Given the description of an element on the screen output the (x, y) to click on. 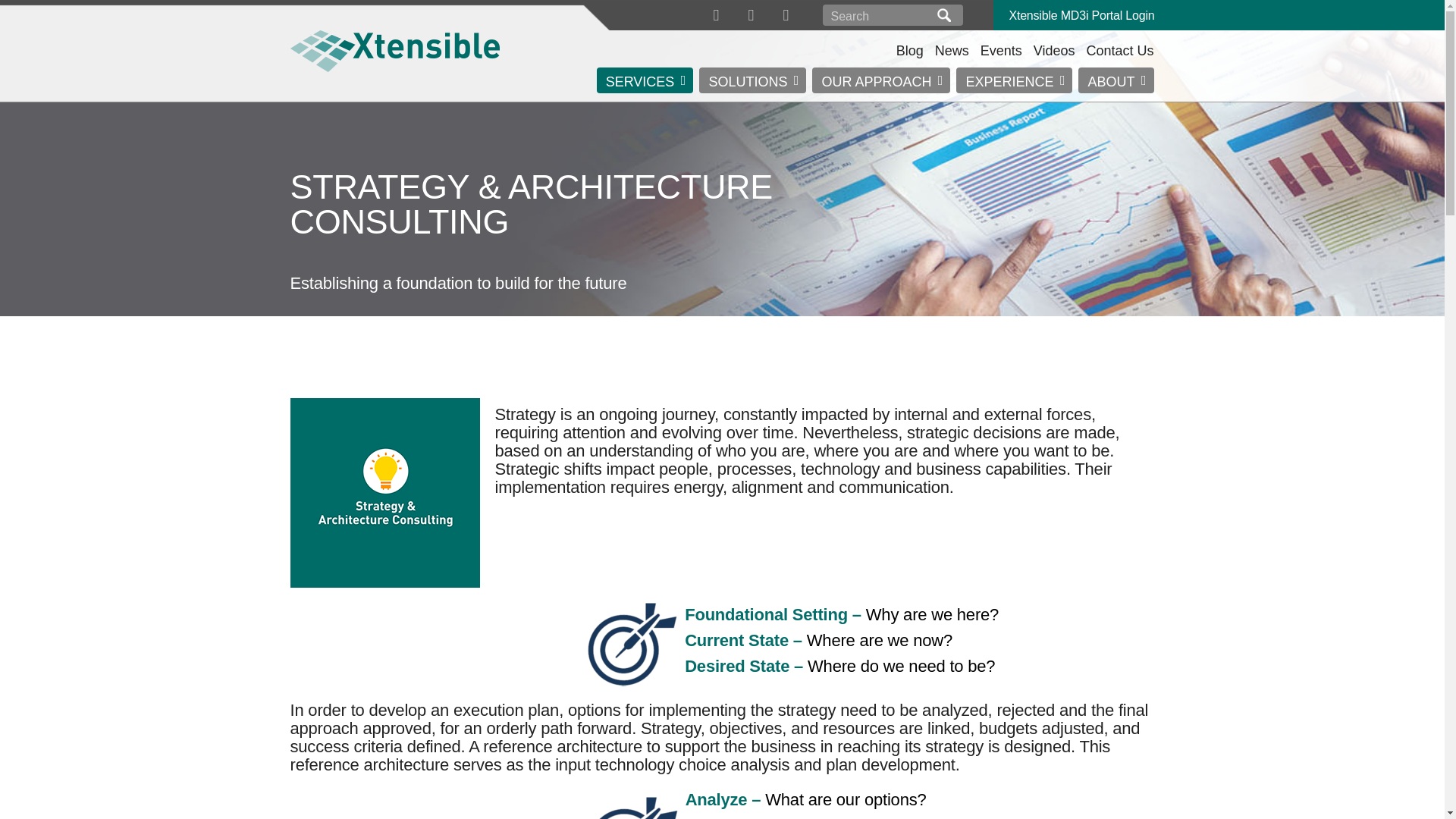
SOLUTIONS (752, 80)
Search (878, 14)
Blog (909, 49)
Xtensible Solutions (394, 50)
EXPERIENCE (1013, 80)
Search (878, 14)
SEARCH (943, 14)
ABOUT (1115, 80)
OUR APPROACH (881, 80)
News (951, 49)
SERVICES (645, 80)
